Given the description of an element on the screen output the (x, y) to click on. 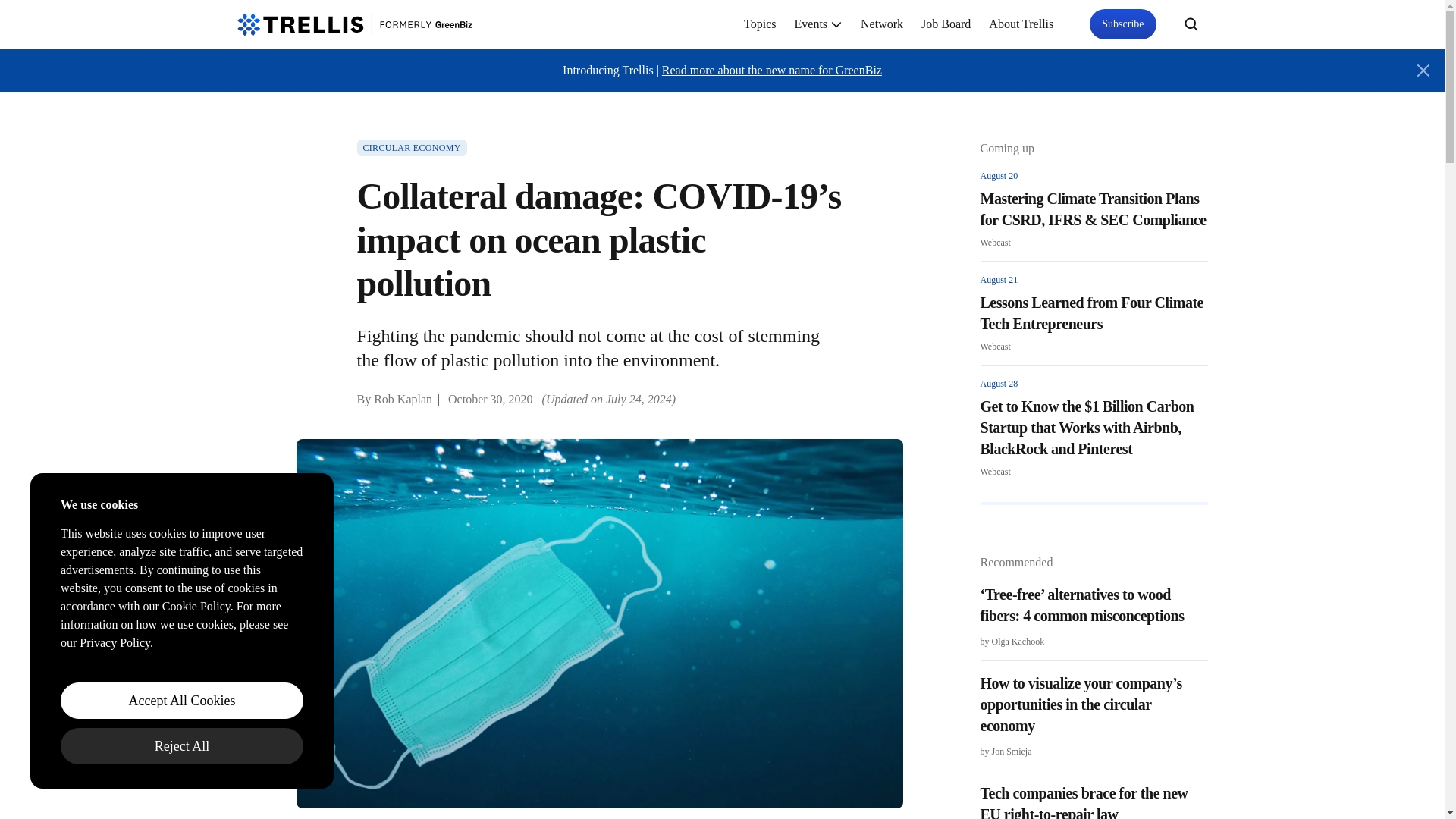
Read more about the new name for GreenBiz (772, 70)
About Trellis (1020, 24)
Job Board (945, 24)
Network (881, 24)
Topics (759, 24)
Events (818, 24)
Subscribe (1122, 24)
Rob Kaplan (403, 399)
CIRCULAR ECONOMY (410, 147)
